Given the description of an element on the screen output the (x, y) to click on. 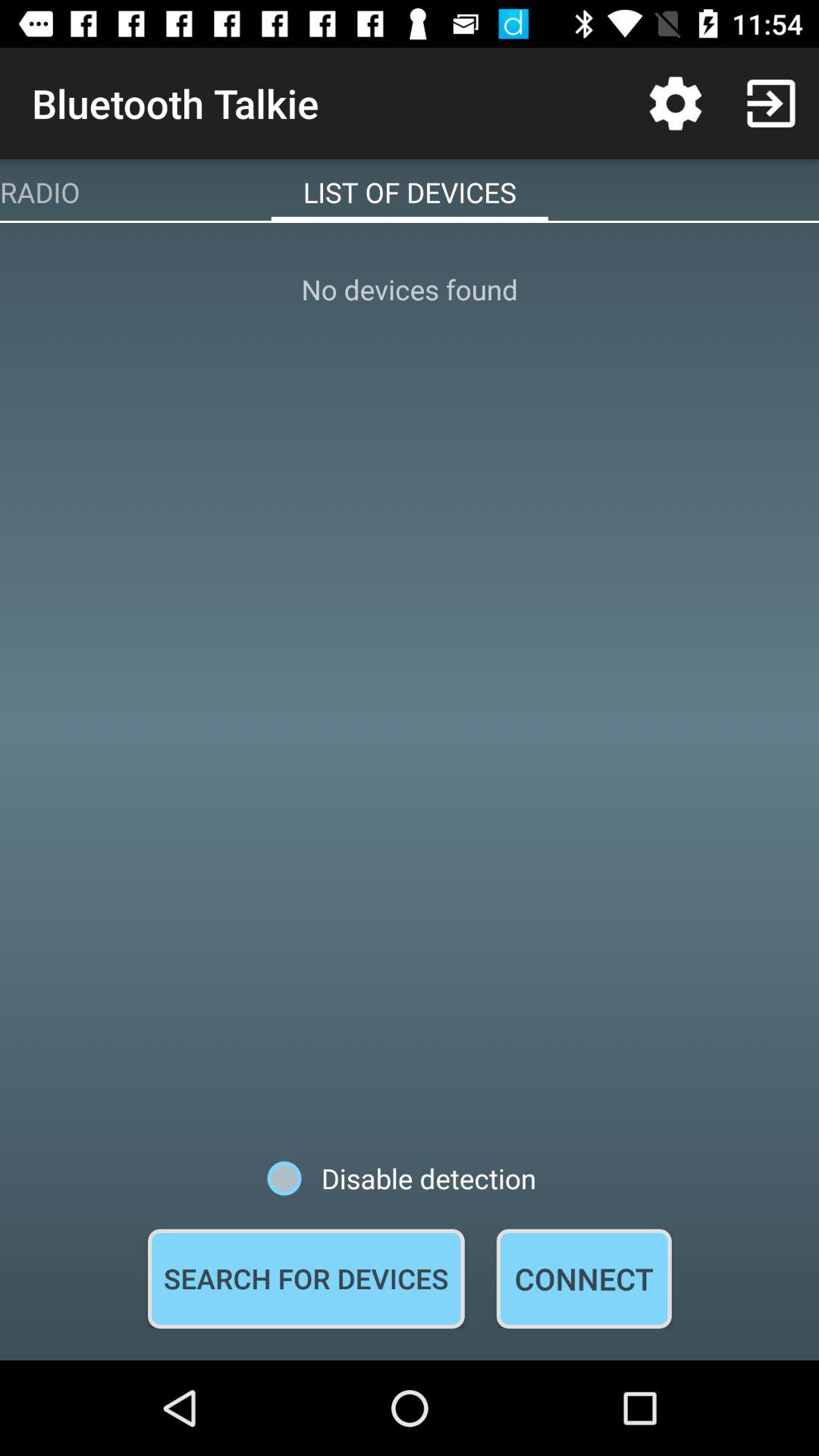
turn on the search for devices icon (305, 1278)
